Given the description of an element on the screen output the (x, y) to click on. 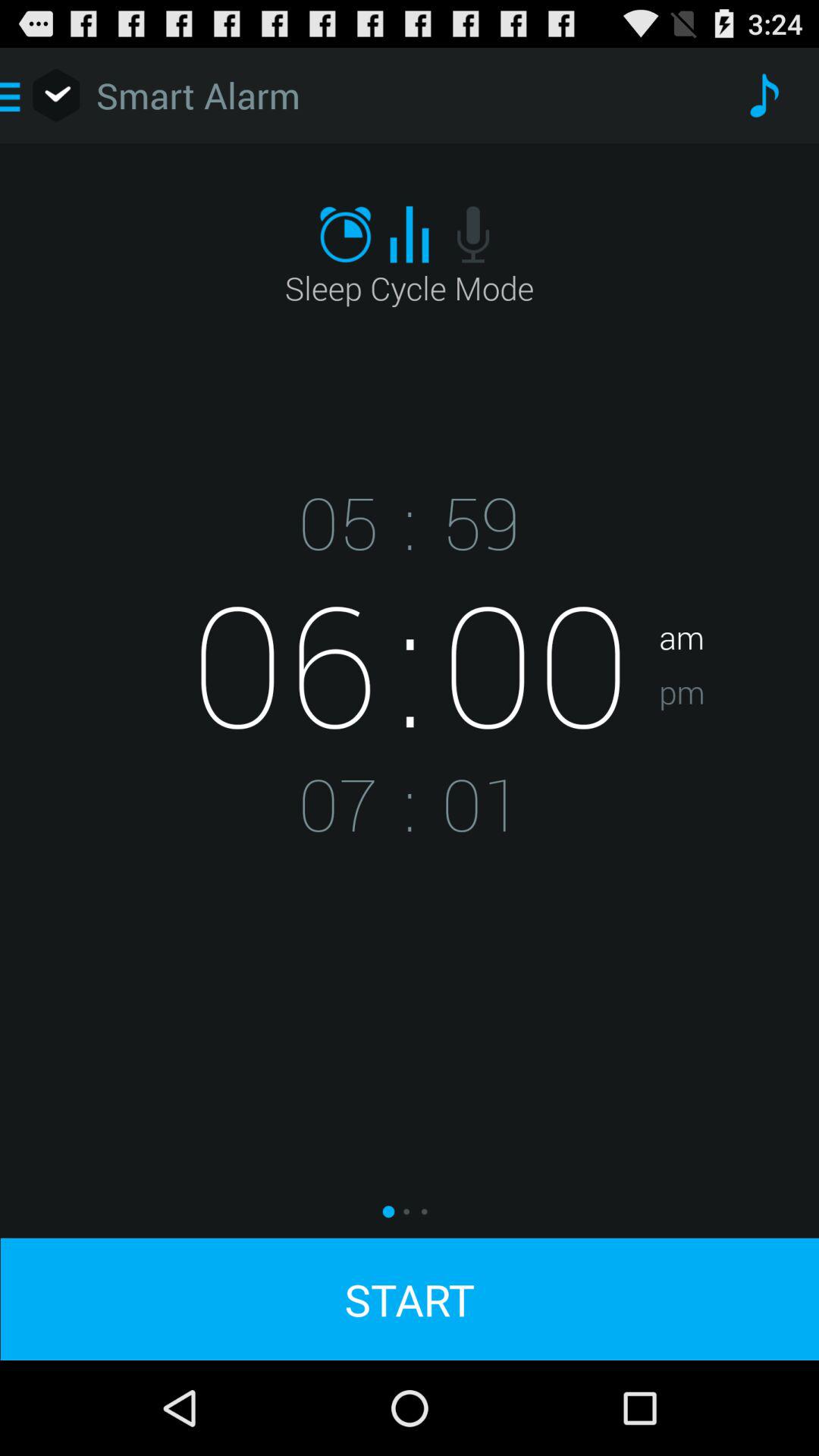
press item next to smart alarm (763, 95)
